Given the description of an element on the screen output the (x, y) to click on. 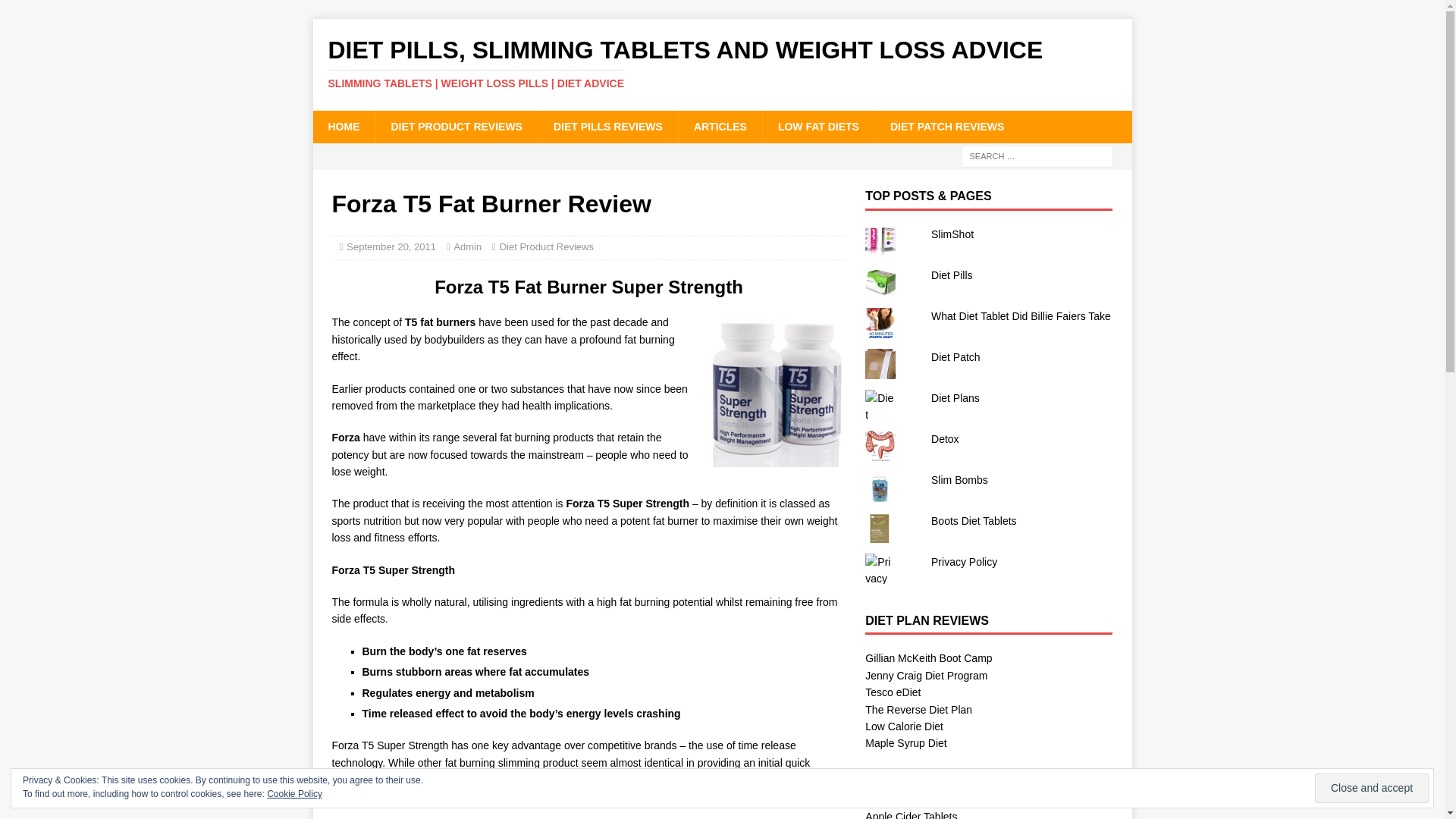
September 20, 2011 (390, 246)
HOME (343, 126)
Diet Patch (955, 357)
Forza T5 Super Strength (776, 391)
Diet Pills (951, 275)
DIET PATCH REVIEWS (947, 126)
Search (56, 11)
LOW FAT DIETS (818, 126)
Diet Pills, Slimming Tablets and Weight Loss Advice (721, 63)
Diet Plans (955, 398)
